Given the description of an element on the screen output the (x, y) to click on. 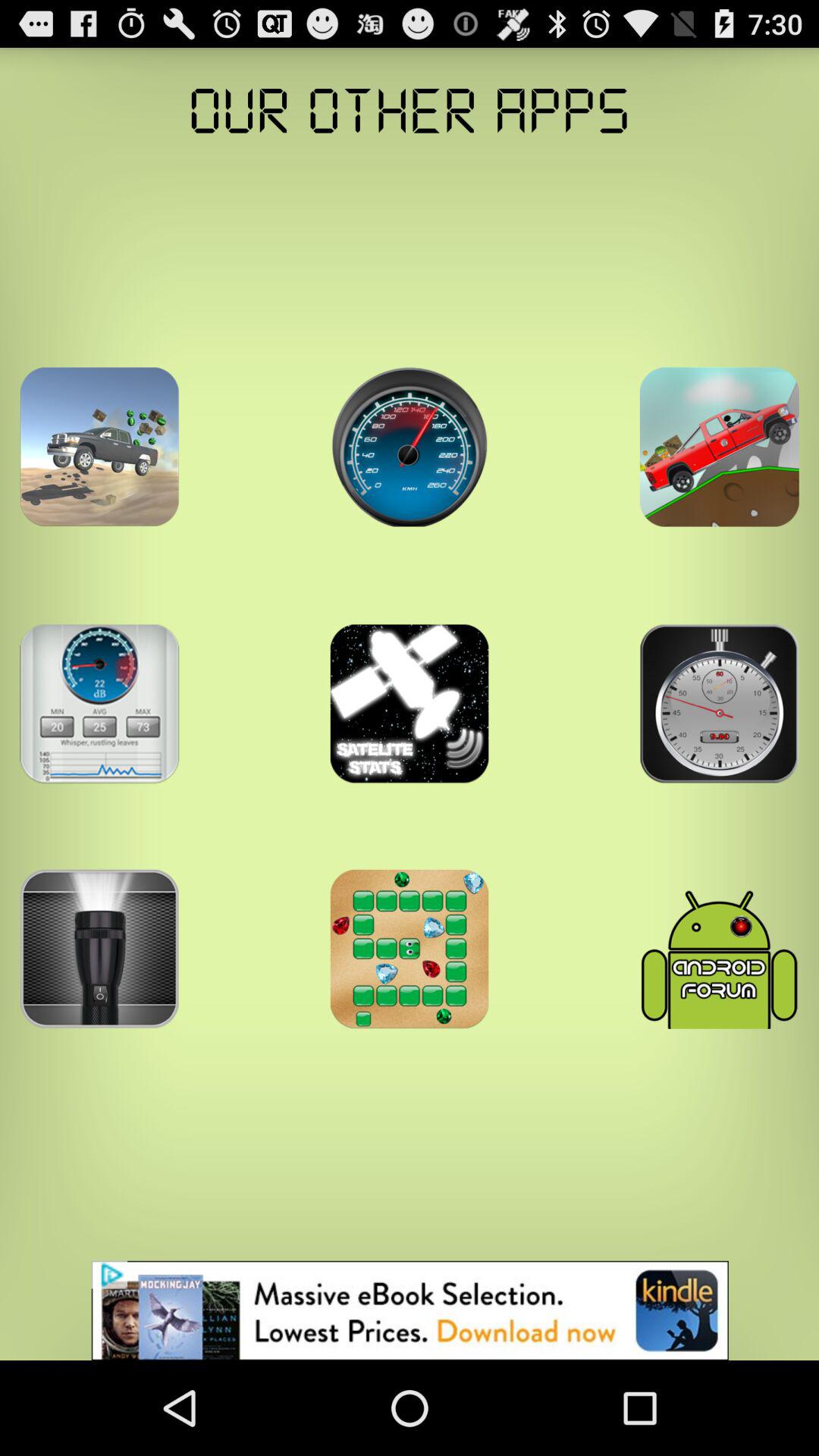
visit sponsor advertisement (409, 1310)
